Given the description of an element on the screen output the (x, y) to click on. 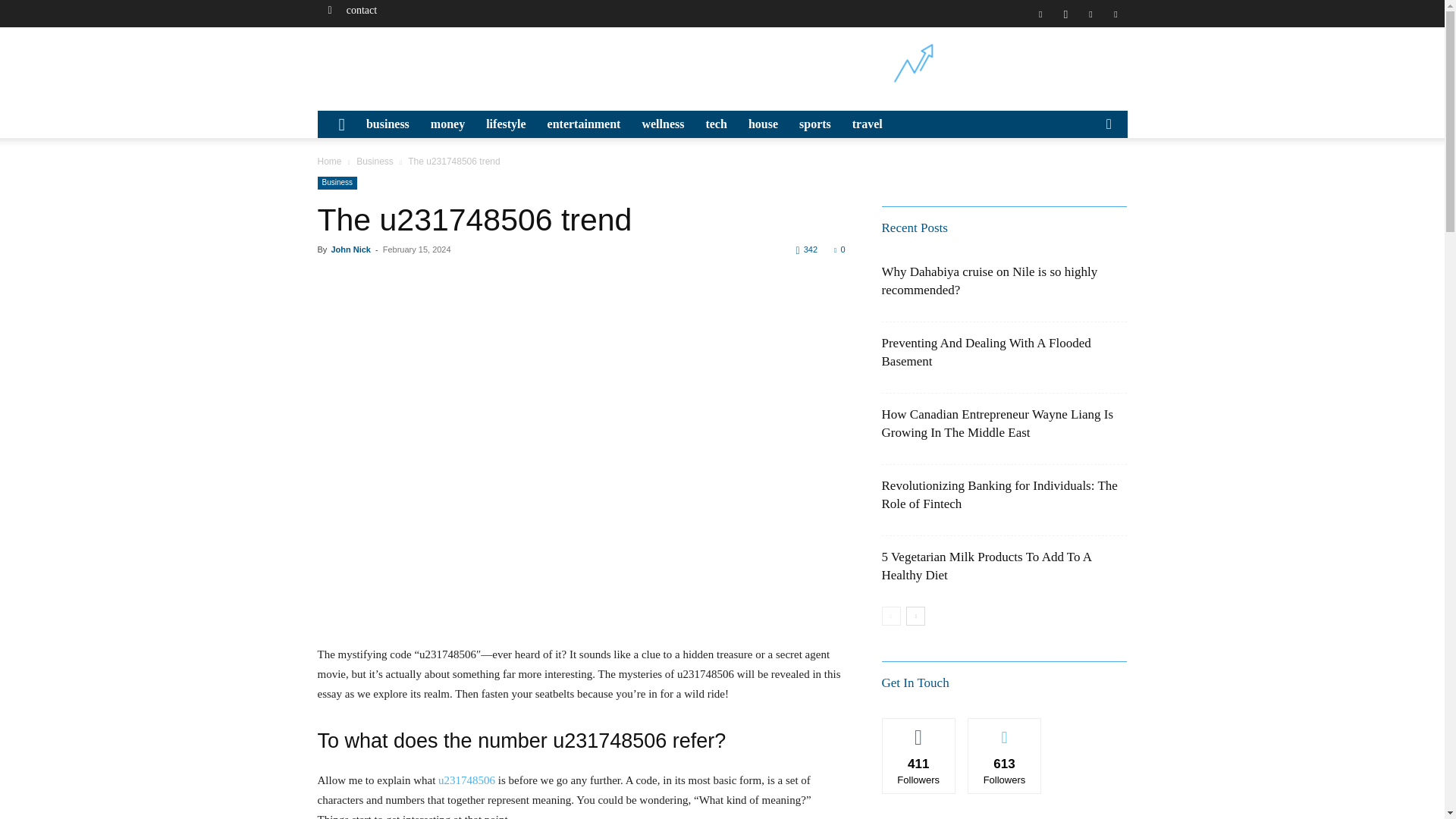
wellness (662, 124)
travel (867, 124)
View all posts in Business (374, 161)
business (387, 124)
contact (361, 9)
tech (715, 124)
sports (815, 124)
money (448, 124)
entertainment (584, 124)
lifestyle (505, 124)
house (763, 124)
